Given the description of an element on the screen output the (x, y) to click on. 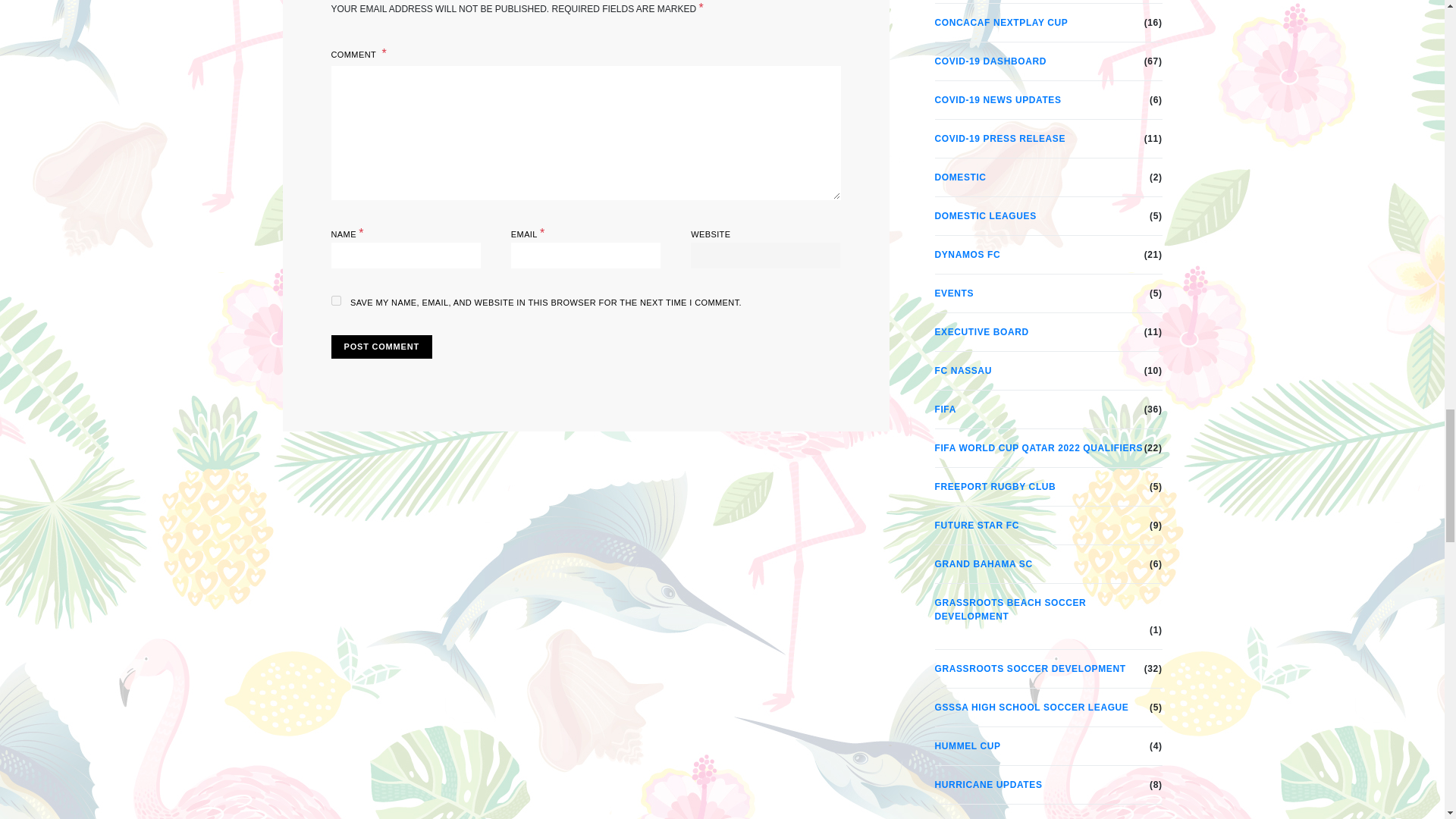
Post Comment (380, 346)
yes (335, 300)
